Given the description of an element on the screen output the (x, y) to click on. 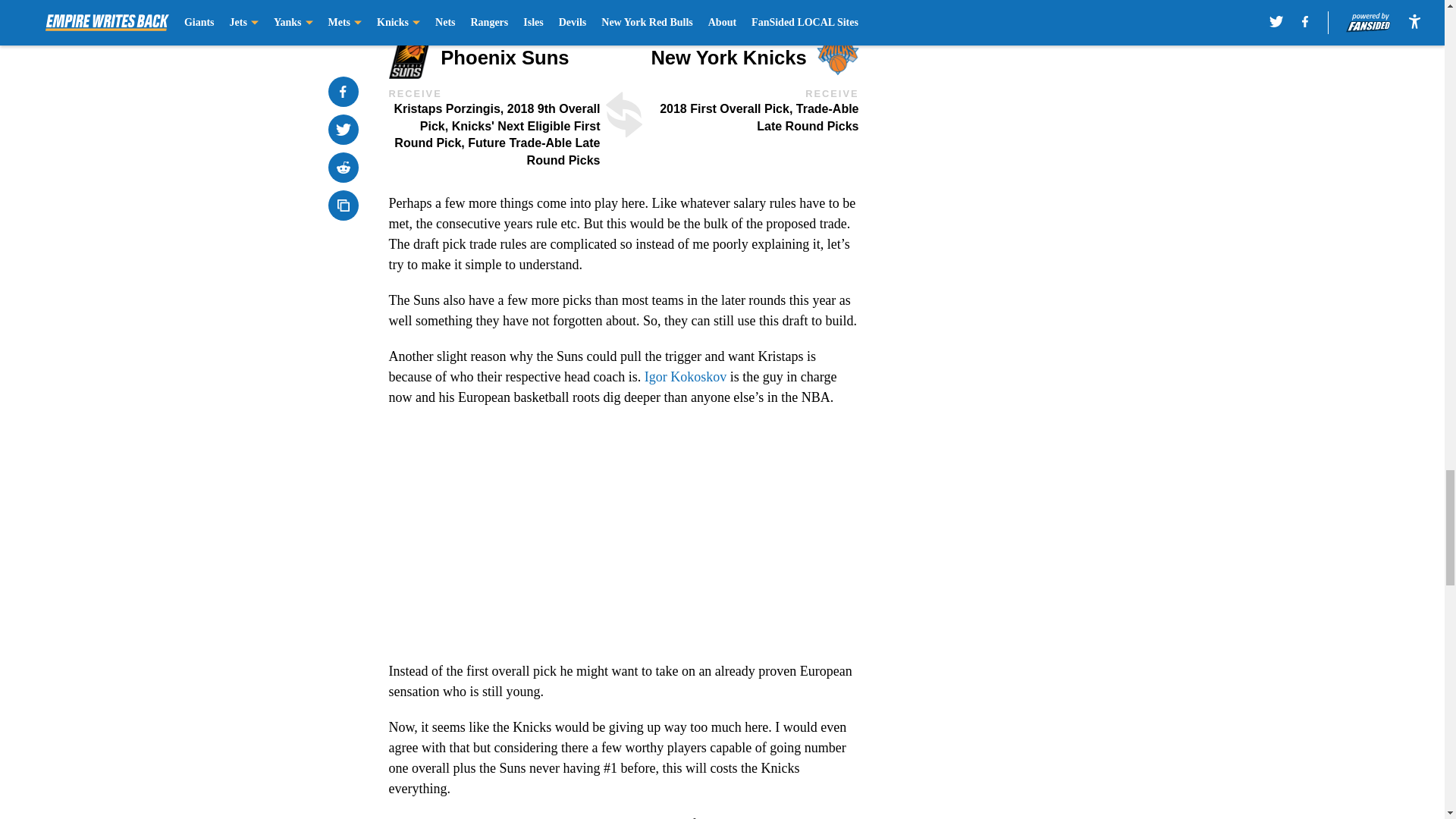
Igor Kokoskov (685, 376)
